Given the description of an element on the screen output the (x, y) to click on. 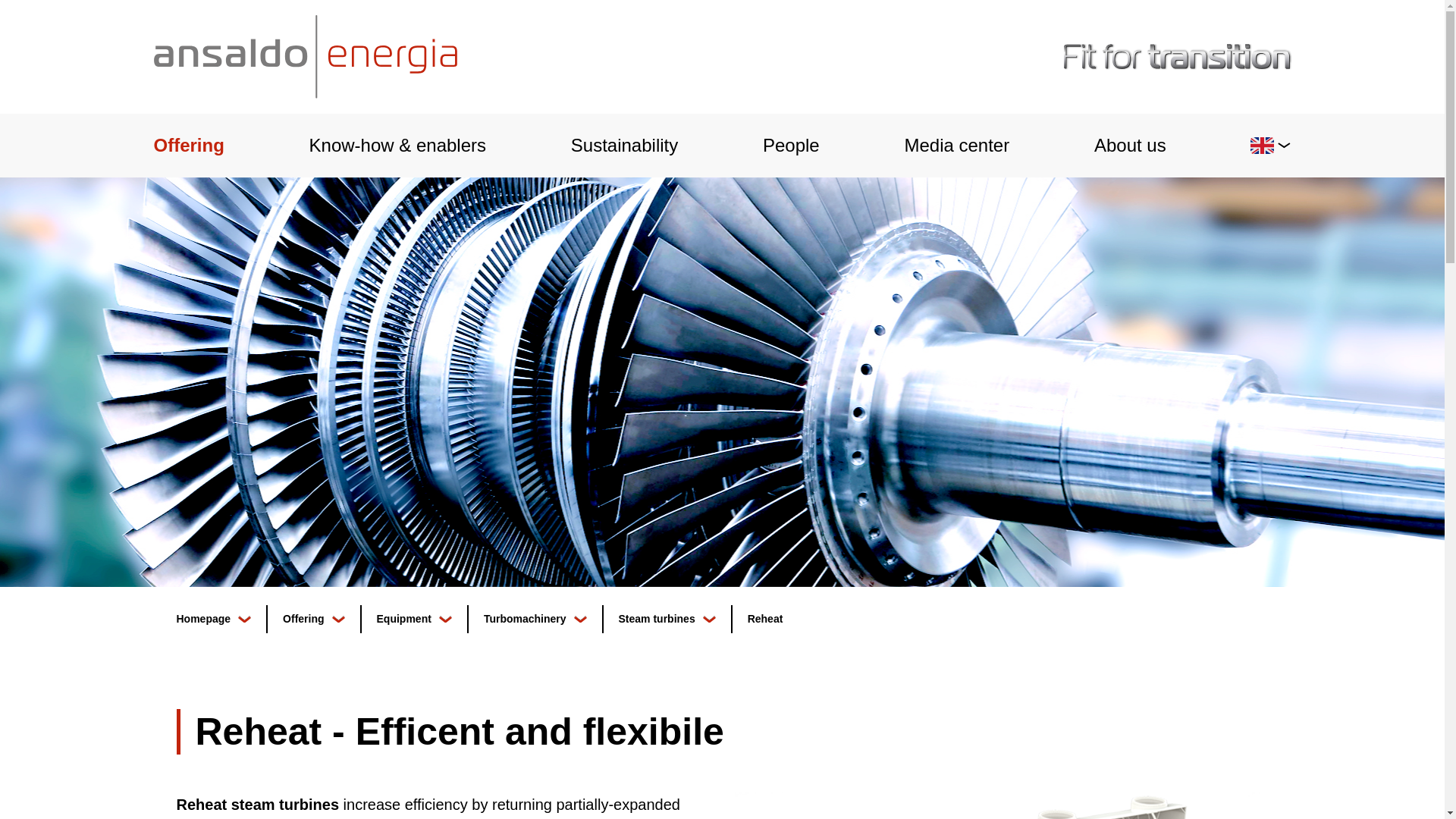
Offering (188, 145)
Offering (188, 145)
